Given the description of an element on the screen output the (x, y) to click on. 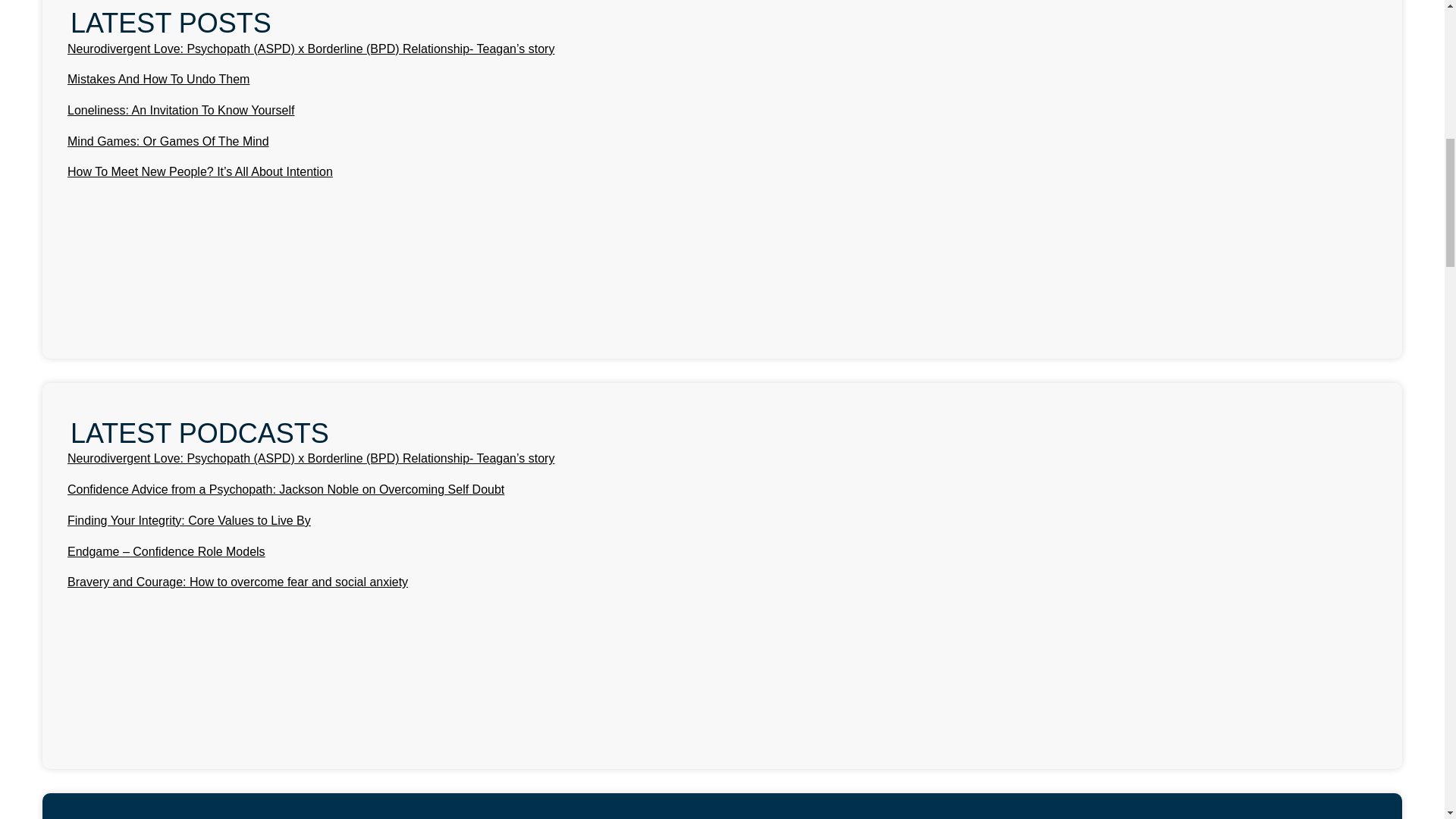
Loneliness: An Invitation To Know Yourself (180, 110)
Mistakes And How To Undo Them (157, 78)
Bravery and Courage: How to overcome fear and social anxiety (236, 581)
Mind Games: Or Games Of The Mind (167, 141)
Finding Your Integrity: Core Values to Live By (188, 520)
